Given the description of an element on the screen output the (x, y) to click on. 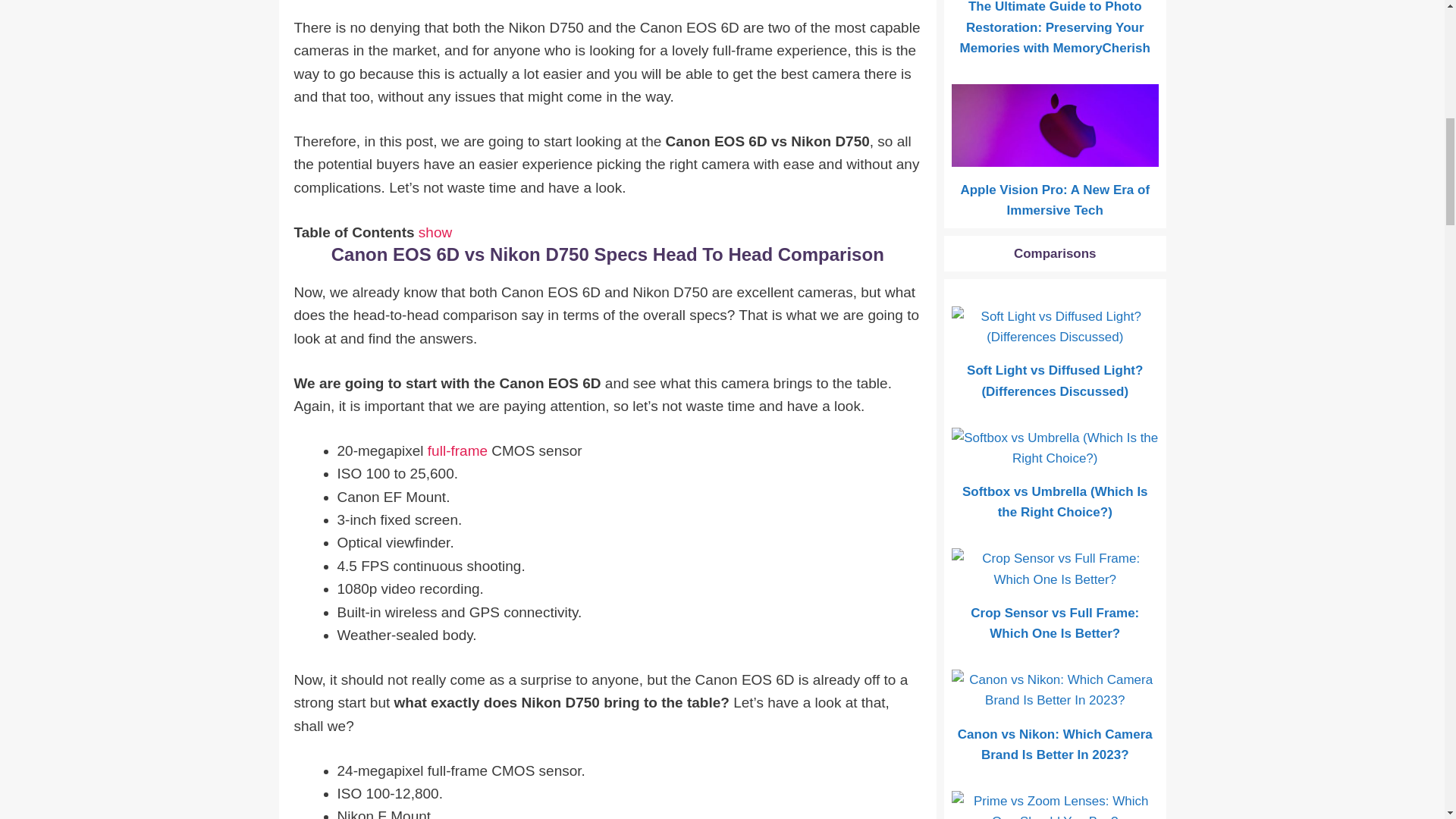
Scroll back to top (1406, 720)
Apple Vision Pro: A New Era of Immersive Tech (1055, 197)
Canon vs Nikon: Which Camera Brand Is Better In 2023? (1055, 741)
Crop Sensor vs Full Frame: Which One Is Better? (1055, 620)
